Given the description of an element on the screen output the (x, y) to click on. 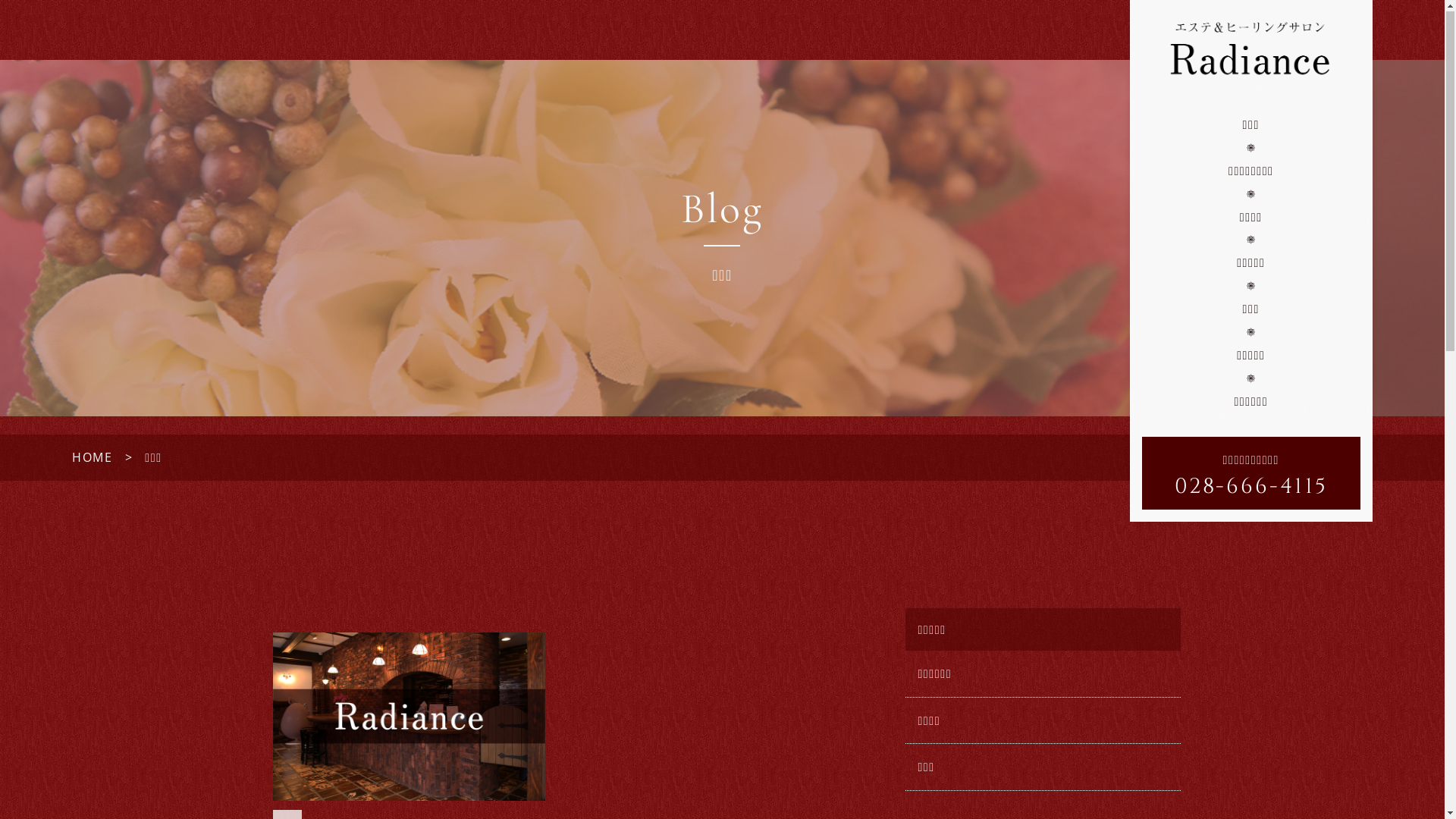
HOME Element type: text (92, 458)
